Given the description of an element on the screen output the (x, y) to click on. 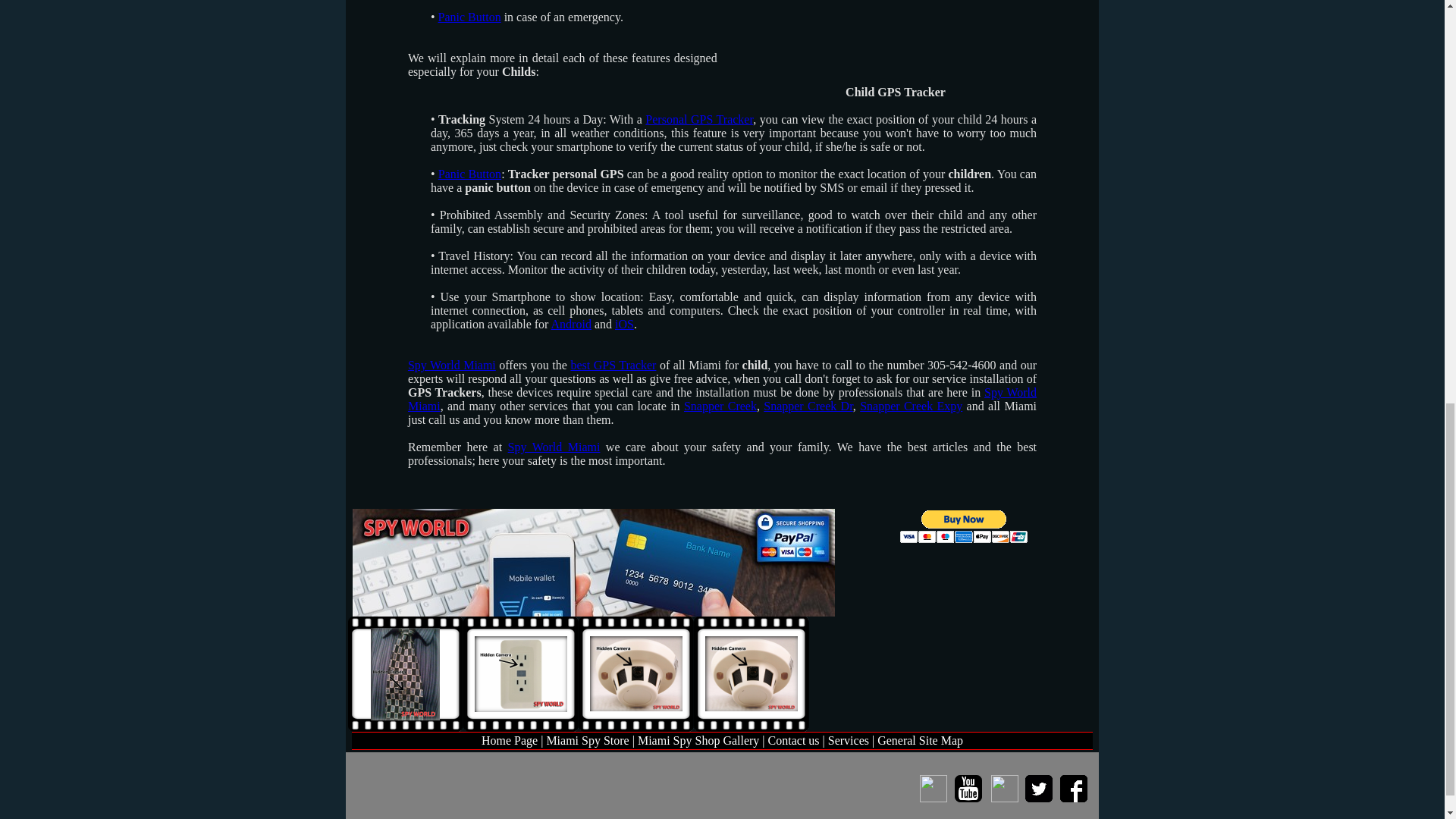
Snapper Creek Dr (807, 405)
Android (571, 323)
best GPS Tracker (613, 364)
Spy World Miami (451, 364)
iOS (623, 323)
Panic Button (469, 16)
Panic Button (469, 173)
Personal GPS Tracker (698, 119)
Spy World Miami (721, 398)
Snapper Creek (720, 405)
Spy World Miami (553, 446)
Snapper Creek Expy (911, 405)
